Given the description of an element on the screen output the (x, y) to click on. 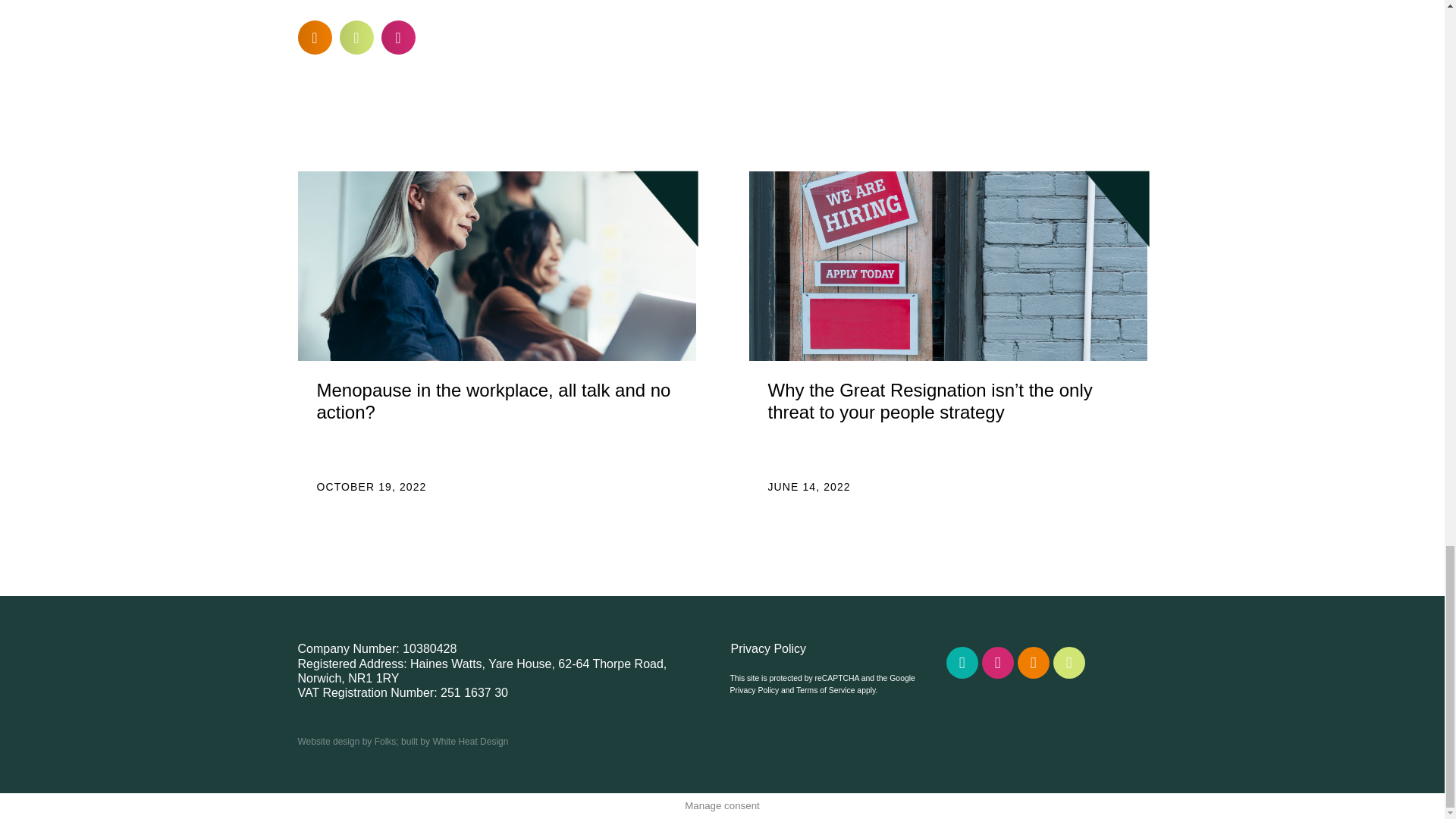
Menopause in the workplace, all talk and no action? (494, 401)
OCTOBER 19, 2022 (371, 486)
JUNE 14, 2022 (808, 486)
Terms of Service (825, 690)
Privacy Policy (829, 648)
Privacy Policy (753, 690)
Folks (385, 741)
White Heat Design (470, 741)
